Given the description of an element on the screen output the (x, y) to click on. 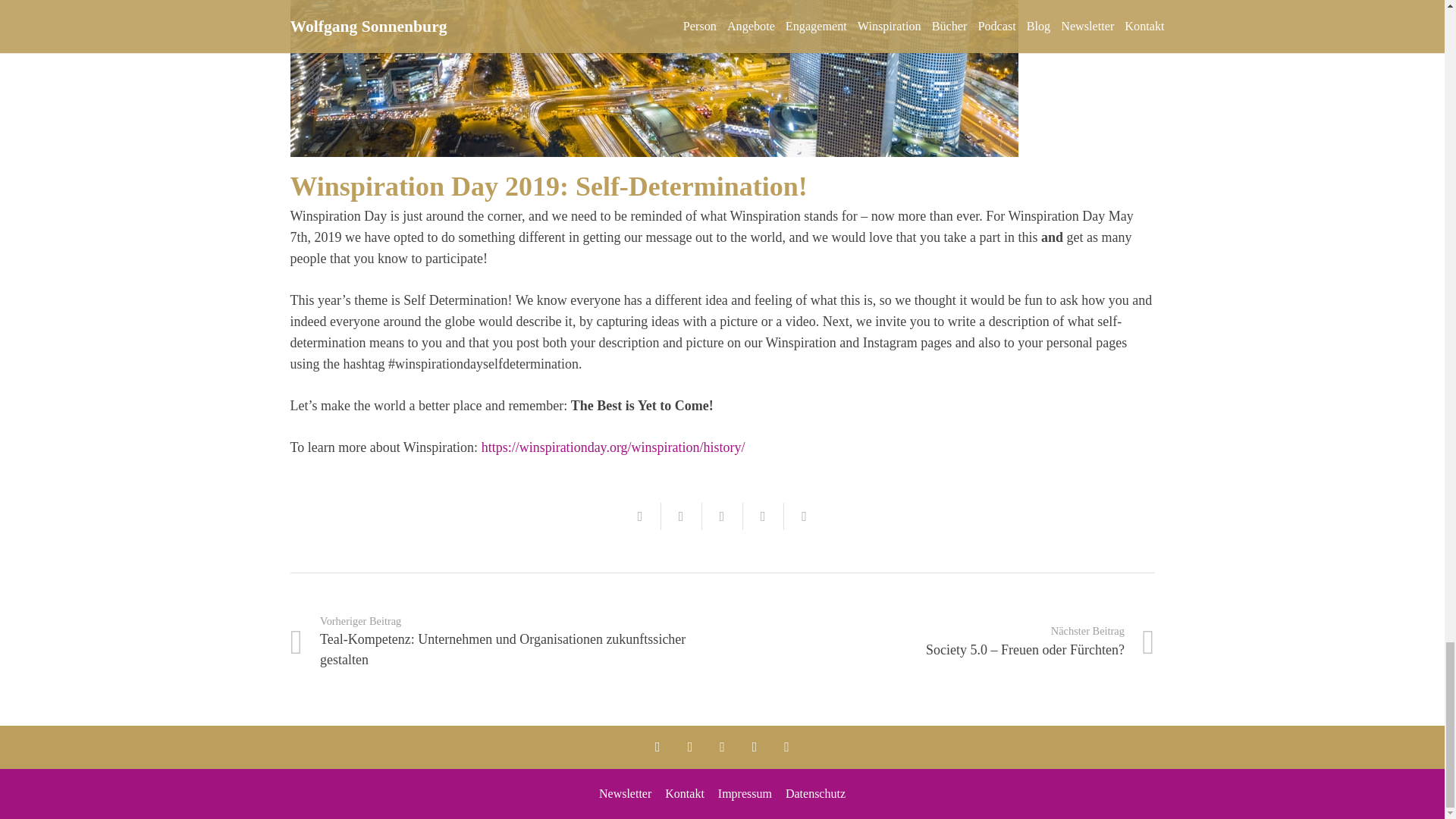
Tweete das (721, 515)
Teile dies (763, 515)
Teile dies (681, 515)
Newsletter (624, 793)
Datenschutz (815, 793)
Impressum (744, 793)
E-Mail senden (640, 515)
Kontakt (684, 793)
